Given the description of an element on the screen output the (x, y) to click on. 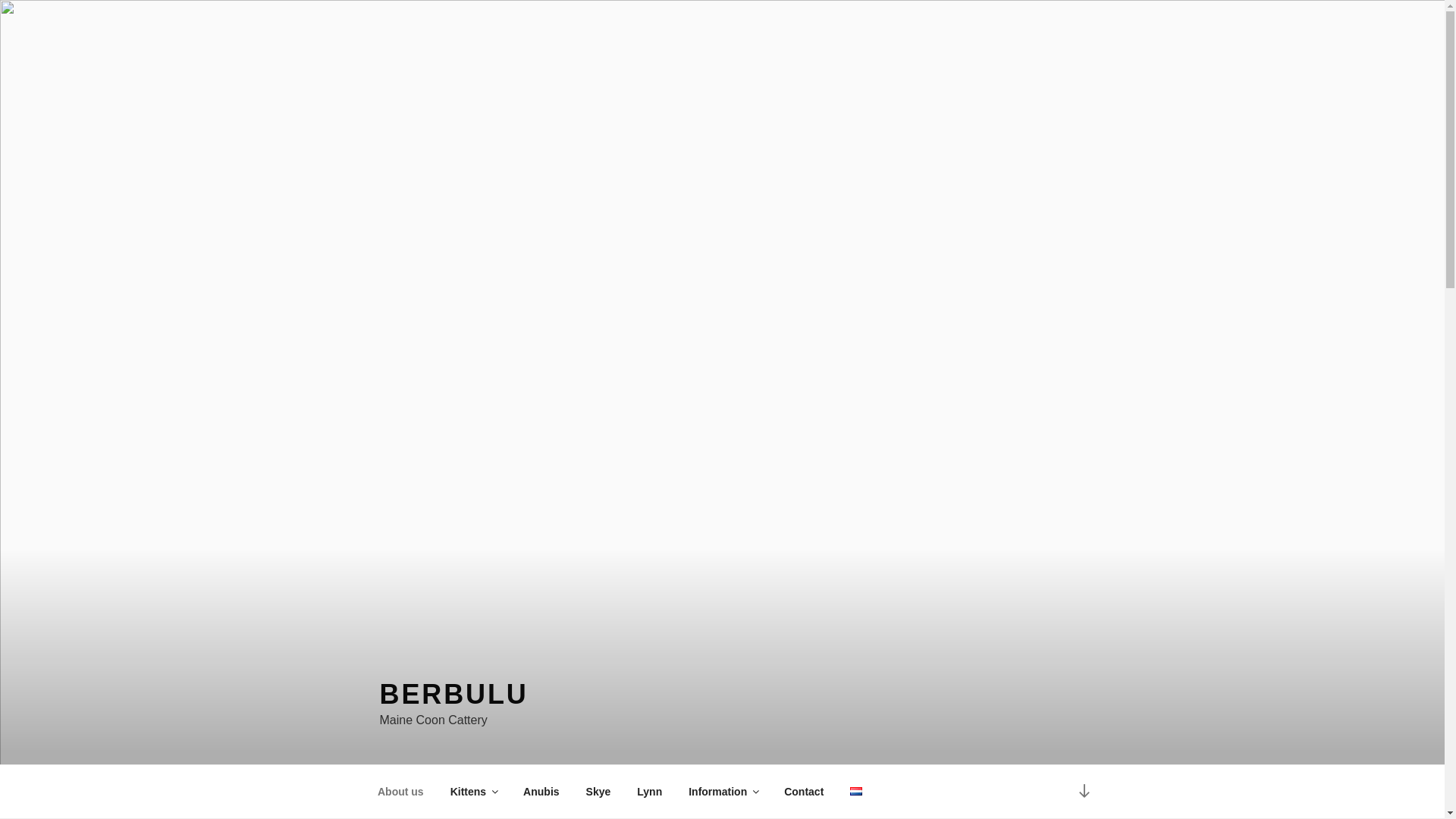
BERBULU (452, 694)
Scroll down to content (1082, 791)
About us (400, 791)
Lynn (649, 791)
Contact (804, 791)
Anubis (541, 791)
Kittens (472, 791)
Information (723, 791)
Scroll down to content (1082, 791)
Skye (598, 791)
